Given the description of an element on the screen output the (x, y) to click on. 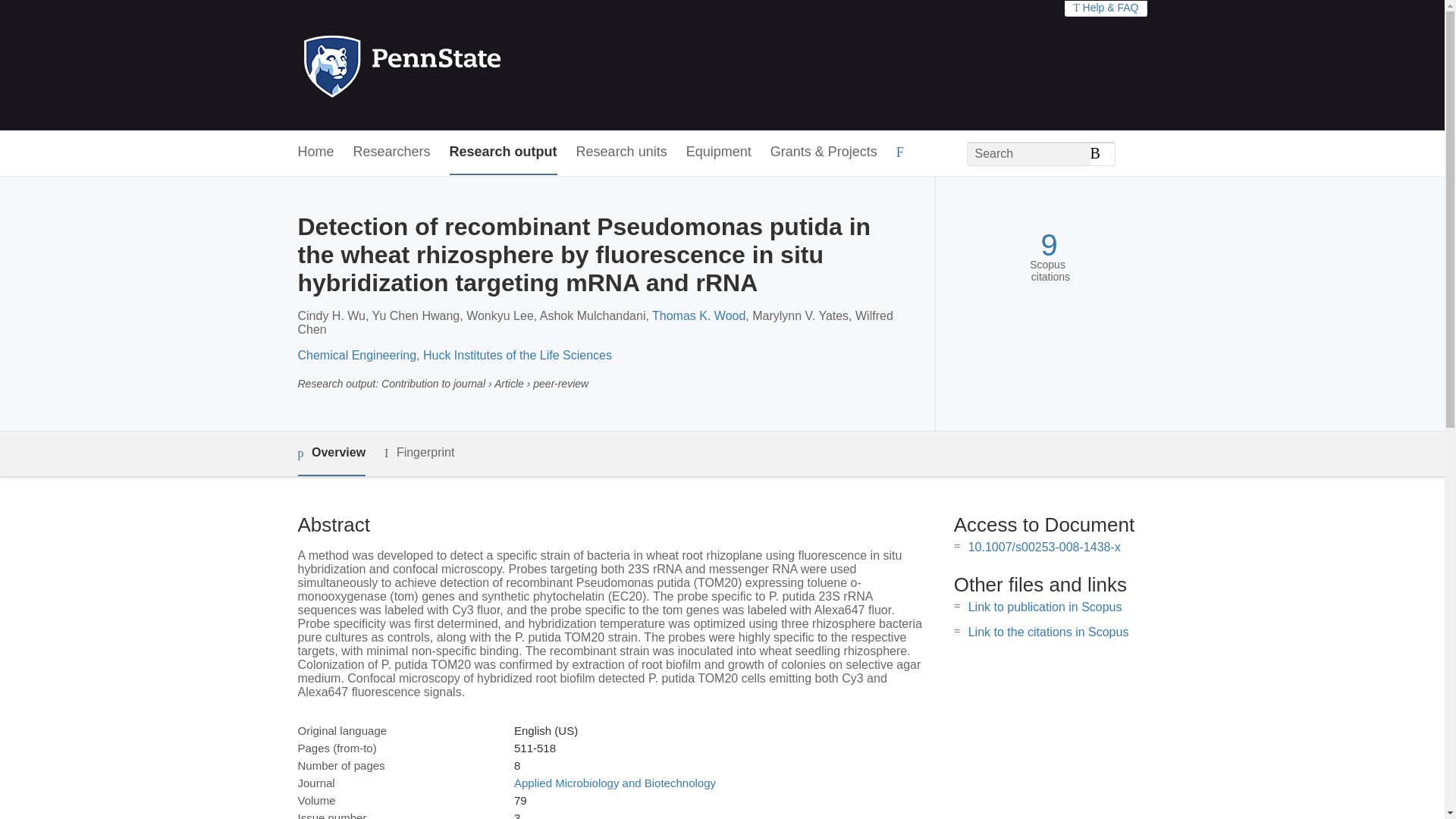
Equipment (718, 152)
Applied Microbiology and Biotechnology (614, 782)
Research output (503, 152)
Researchers (391, 152)
9 (1049, 244)
Fingerprint (419, 453)
Research units (621, 152)
Link to the citations in Scopus (1048, 631)
Thomas K. Wood (698, 315)
Link to publication in Scopus (1045, 606)
Home (315, 152)
Huck Institutes of the Life Sciences (517, 354)
Penn State Home (467, 65)
Overview (331, 453)
